Given the description of an element on the screen output the (x, y) to click on. 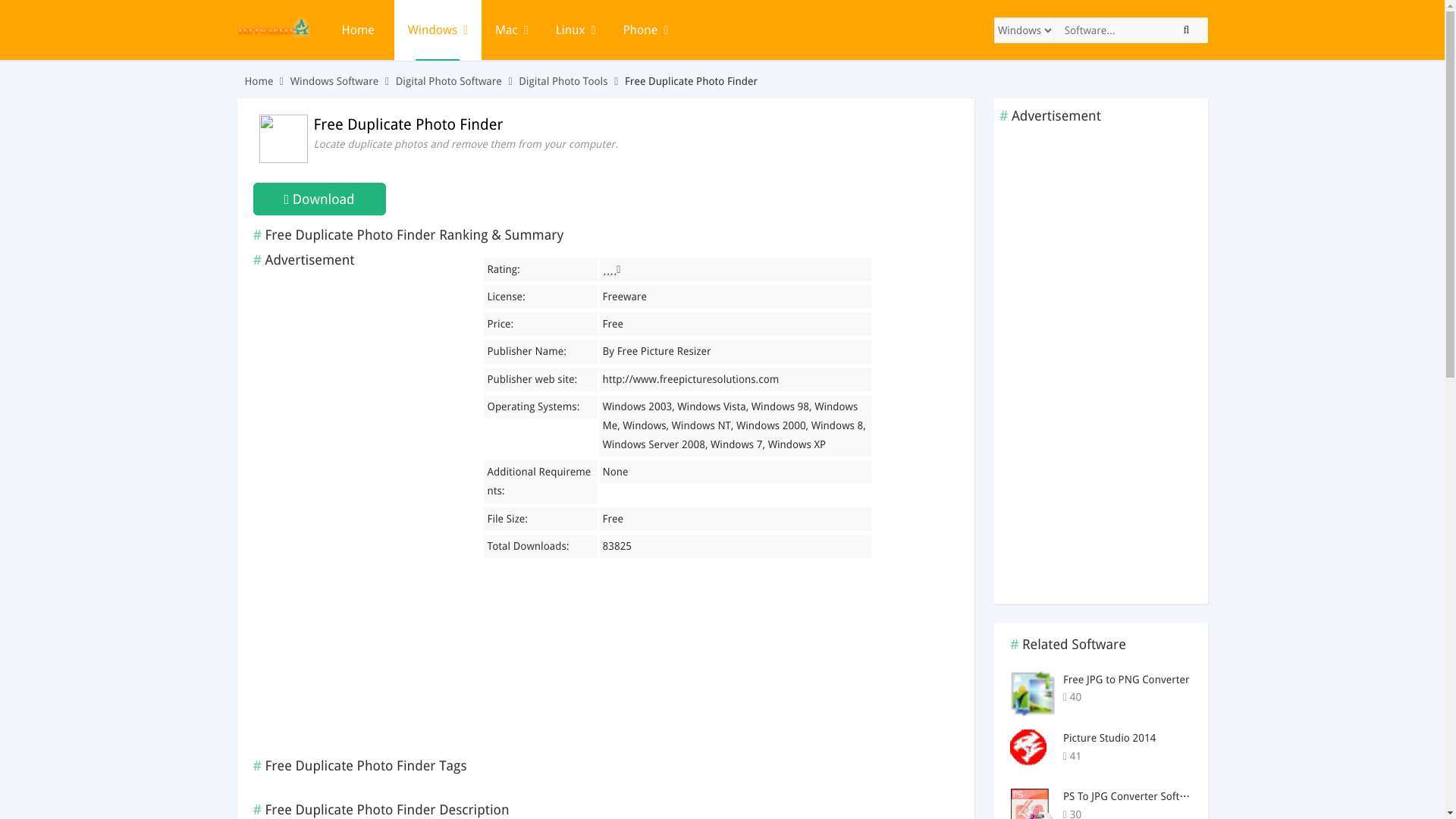
Convert PS files to JPG format. (1176, 812)
Mac (511, 30)
Windows (437, 30)
Home (360, 30)
Convert JPG files to PNG format. (1176, 696)
Convert images to jpeg, gif, png, bmp, tiff. (1176, 755)
Software Sea (271, 39)
